Given the description of an element on the screen output the (x, y) to click on. 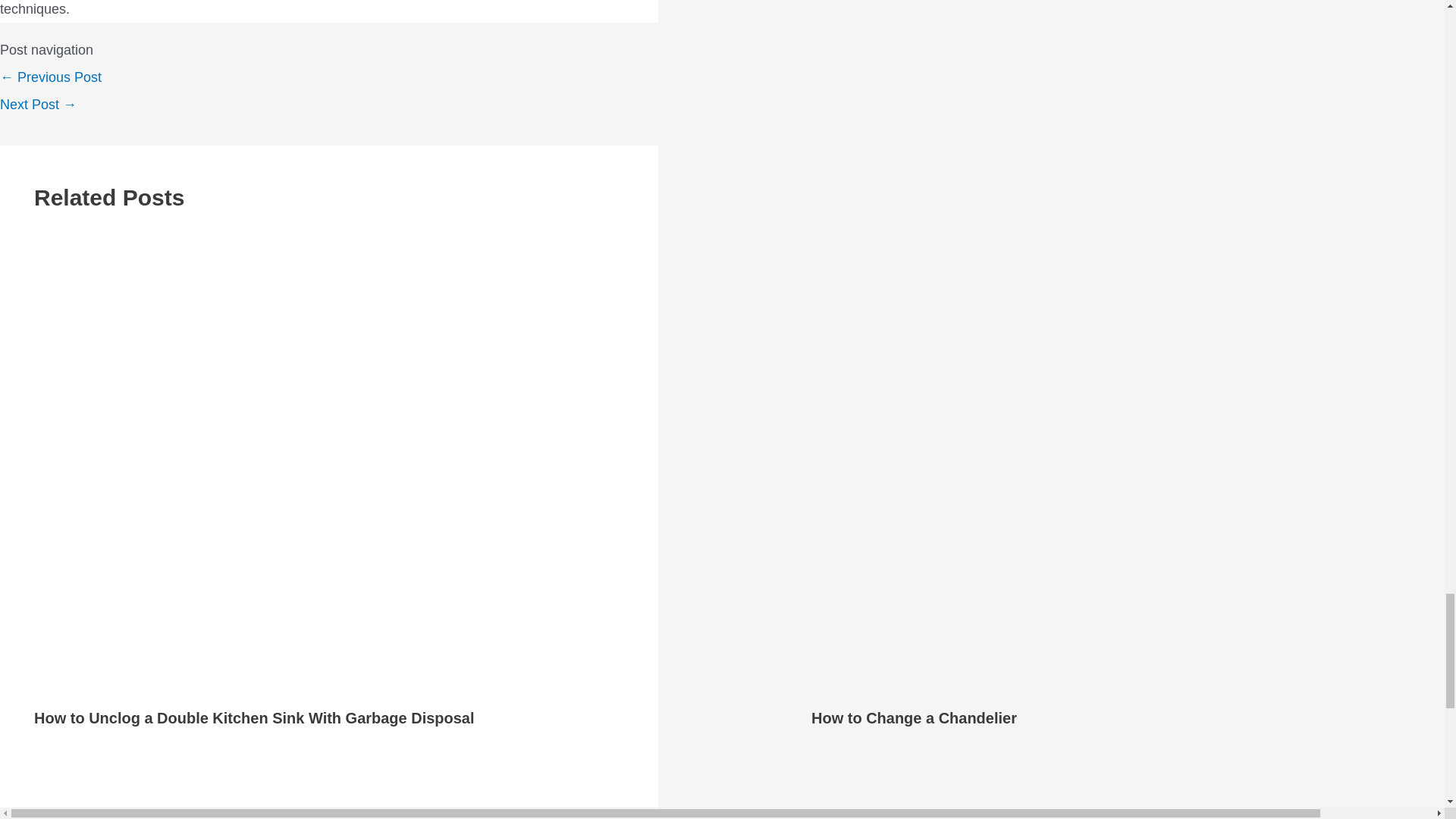
How to Get Rid of Weevils in My Bedroom (38, 104)
How to Change a Chandelier (913, 718)
How to Unclog a Double Kitchen Sink With Garbage Disposal (253, 718)
How to Draw a Bedroom (50, 77)
